Given the description of an element on the screen output the (x, y) to click on. 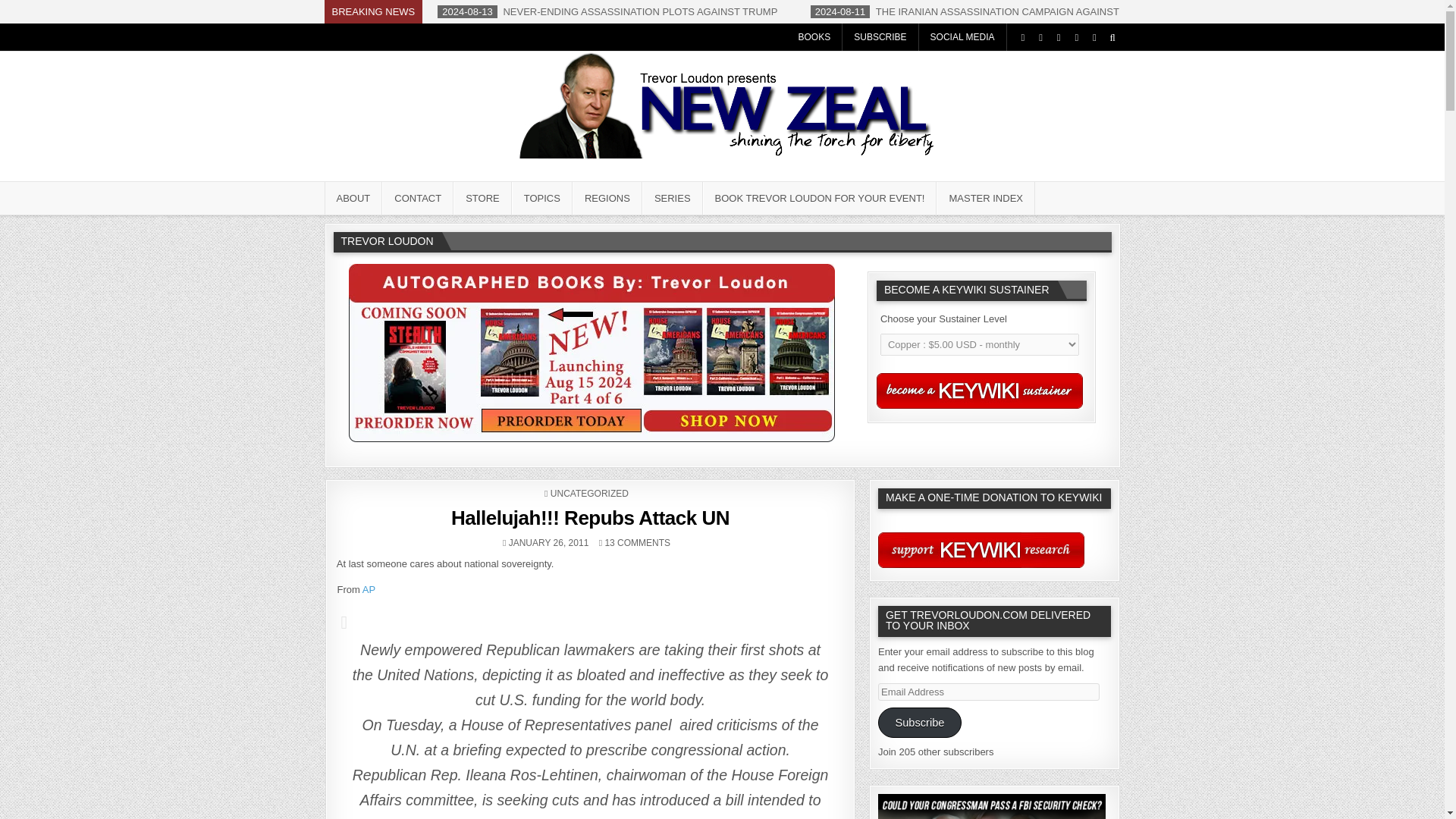
STORE (482, 197)
RSS (1094, 37)
SOCIAL MEDIA (962, 36)
2024-08-13 NEVER-ENDING ASSASSINATION PLOTS AGAINST TRUMP (608, 11)
SERIES (672, 197)
SUBSCRIBE (880, 36)
Facebook (1040, 37)
Youtube (1075, 37)
Search (1112, 37)
